Given the description of an element on the screen output the (x, y) to click on. 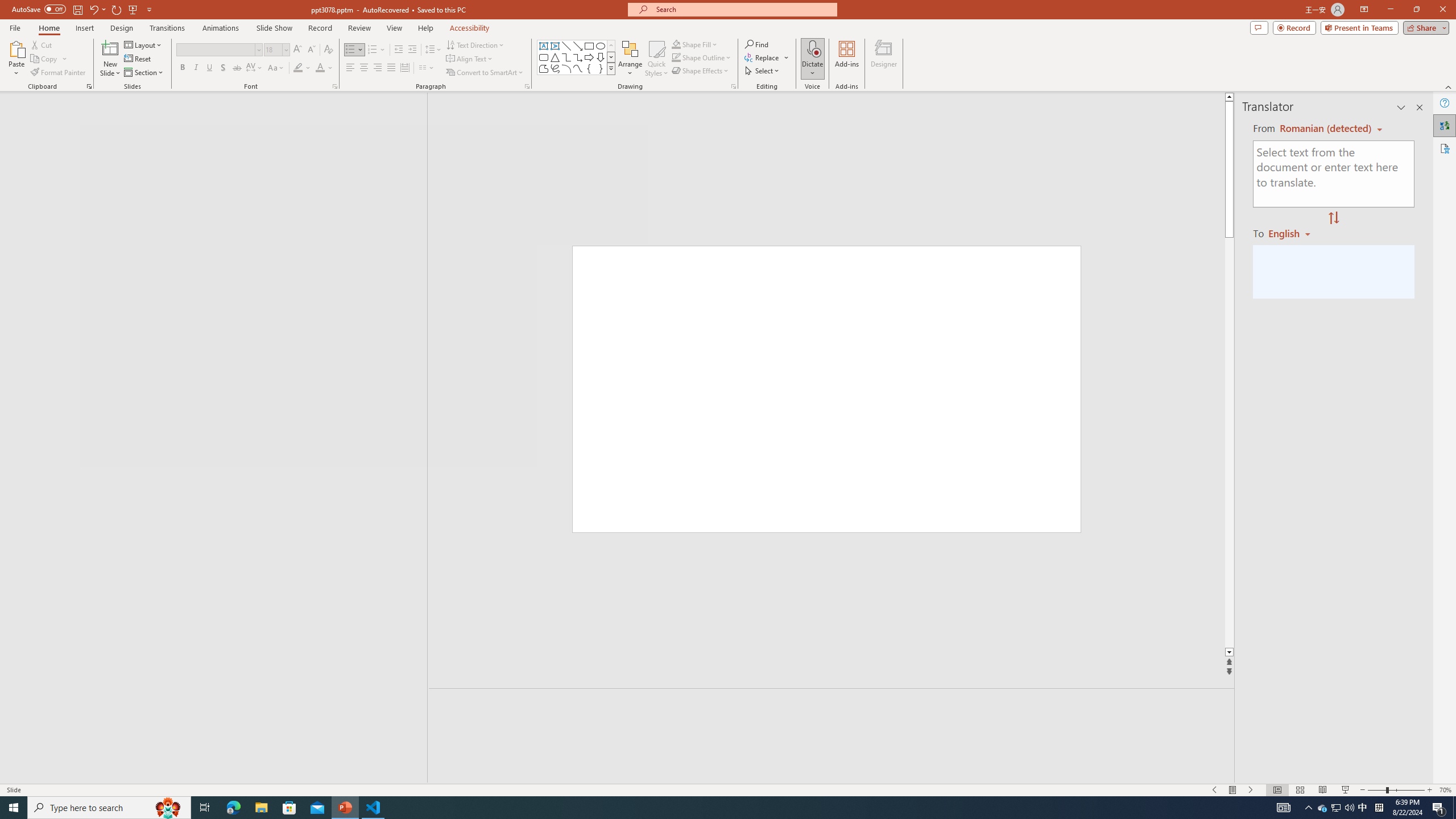
Decrease Font Size (310, 49)
Arc (566, 68)
Strikethrough (237, 67)
Shadow (223, 67)
File Tab (15, 27)
Present in Teams (1359, 27)
Transitions (167, 28)
Outline (218, 122)
Normal (1277, 790)
Arrow: Right (589, 57)
Copy (49, 58)
Connector: Elbow Arrow (577, 57)
Class: NetUIImage (610, 68)
